Given the description of an element on the screen output the (x, y) to click on. 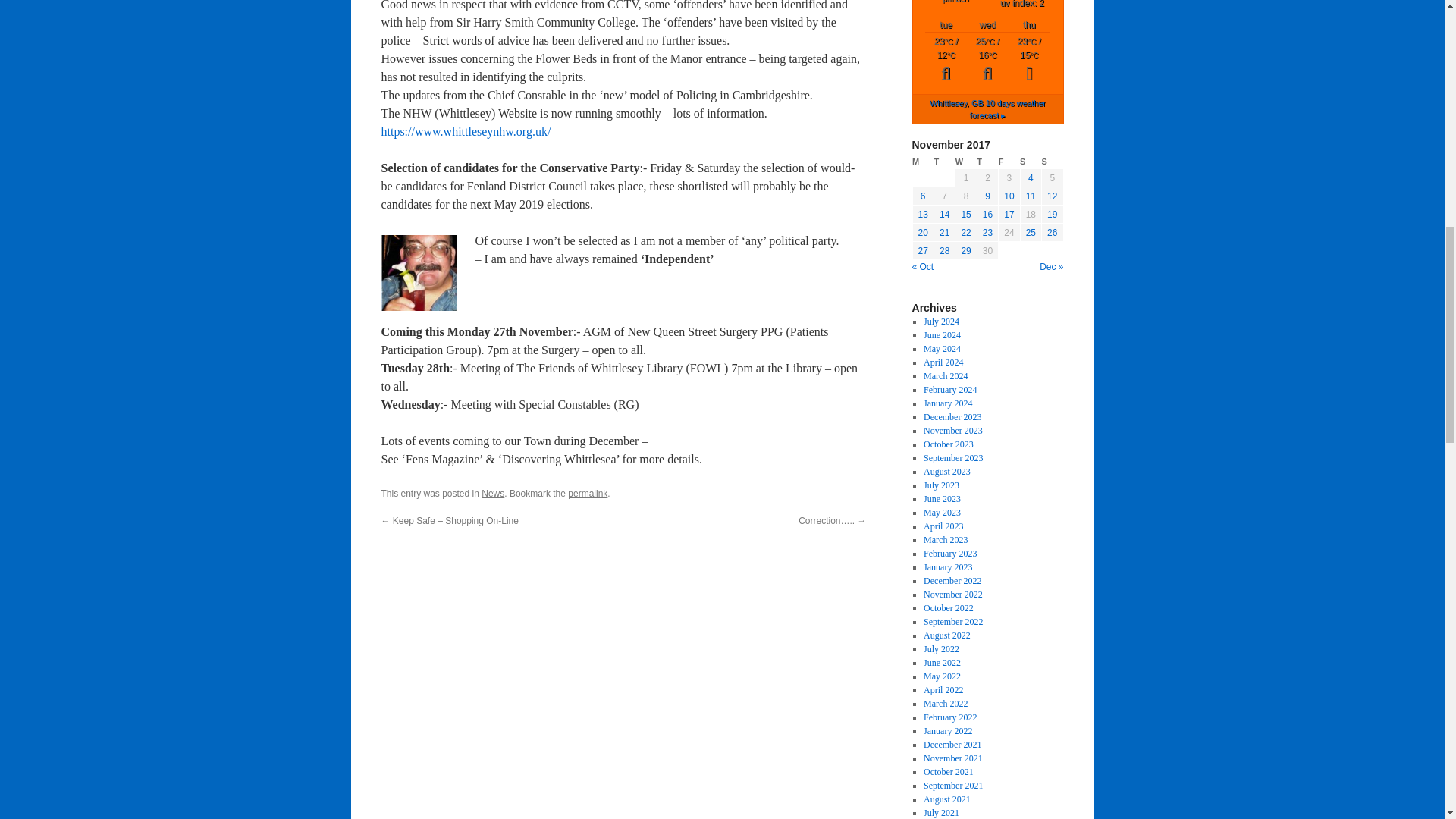
12 (1051, 195)
Thursday (986, 161)
13 (923, 214)
Monday (922, 161)
permalink (587, 493)
16 (987, 214)
14 (944, 214)
11 (1030, 195)
22 (965, 232)
Friday (1009, 161)
17 (1008, 214)
10 (1008, 195)
Tuesday (944, 161)
15 (965, 214)
Whittlesey, GB - 10 days weather forecast (987, 108)
